Given the description of an element on the screen output the (x, y) to click on. 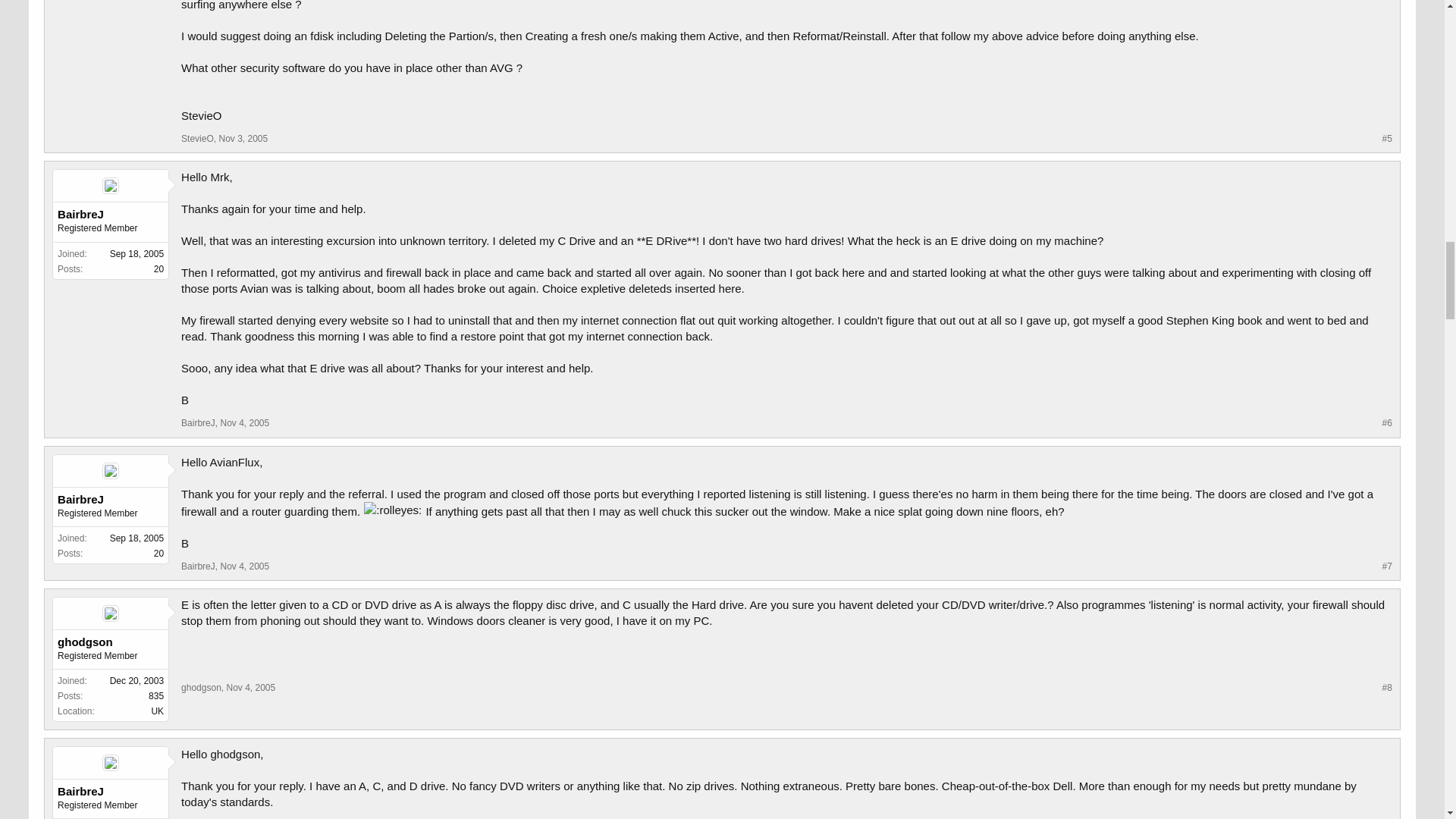
Permalink (242, 138)
StevieO (197, 138)
Nov 3, 2005 (242, 138)
